Given the description of an element on the screen output the (x, y) to click on. 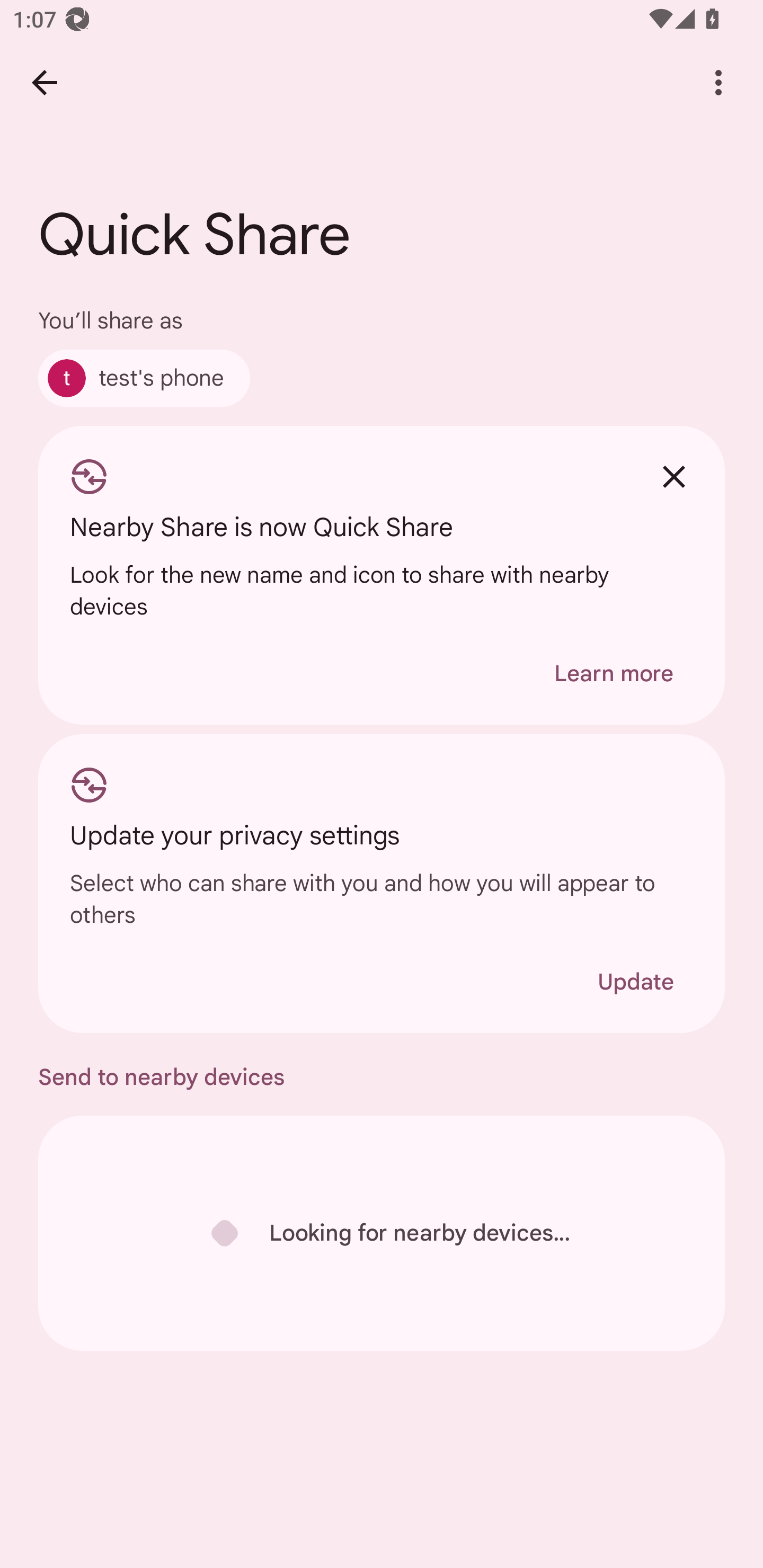
Back (44, 81)
More (718, 81)
test's phone (144, 378)
Close (673, 476)
Learn more (613, 673)
Update (635, 981)
